Given the description of an element on the screen output the (x, y) to click on. 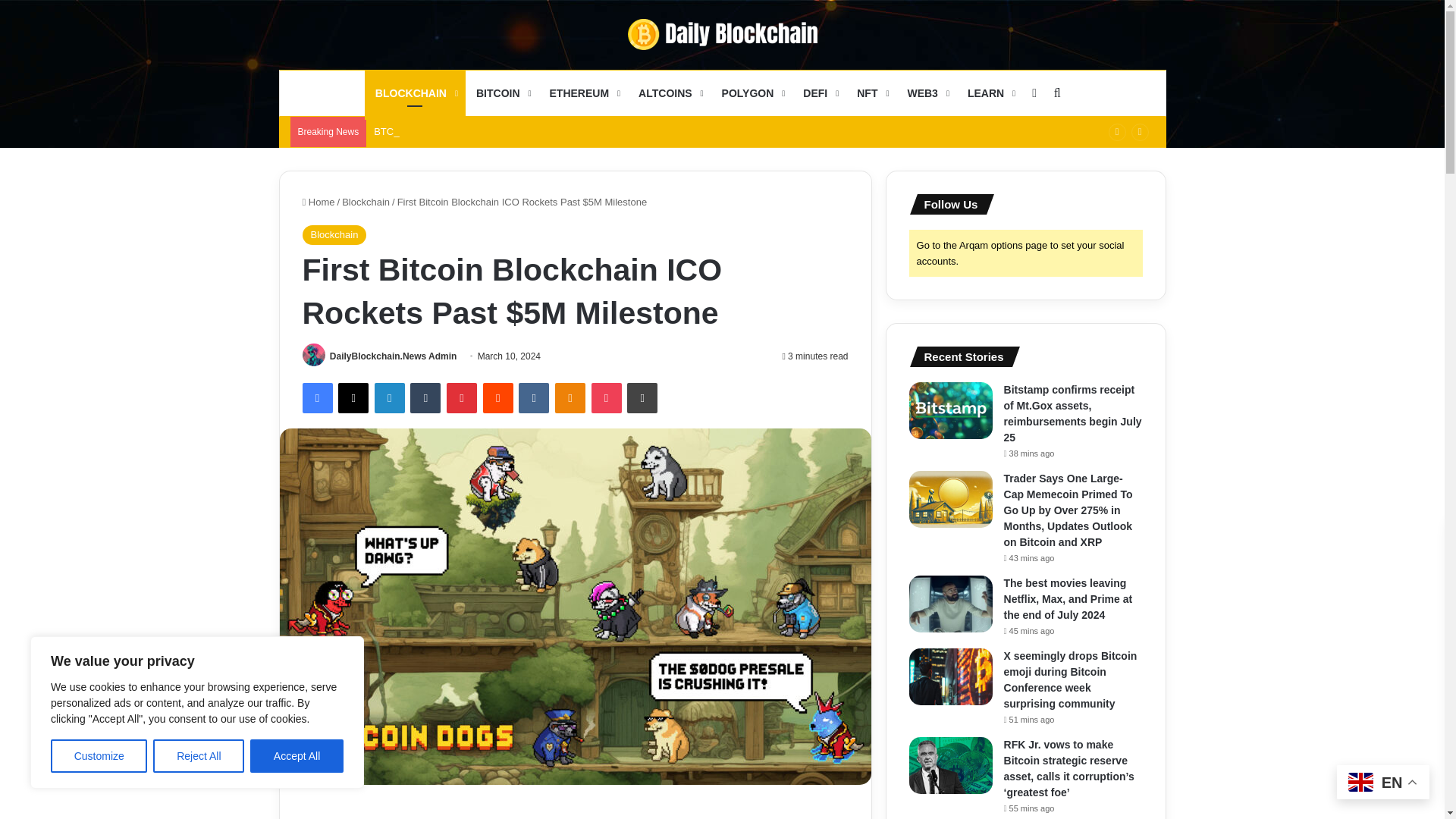
Customize (98, 756)
BITCOIN (501, 93)
Facebook (316, 398)
DailyBlockchain.News Admin (393, 356)
DailyBlockchain.News Admin (393, 356)
Daily Blockchain News (721, 33)
Print (642, 398)
ETHEREUM (583, 93)
Tumblr (425, 398)
Reddit (498, 398)
X (352, 398)
DEFI (818, 93)
WEB3 (926, 93)
Pinterest (461, 398)
